Given the description of an element on the screen output the (x, y) to click on. 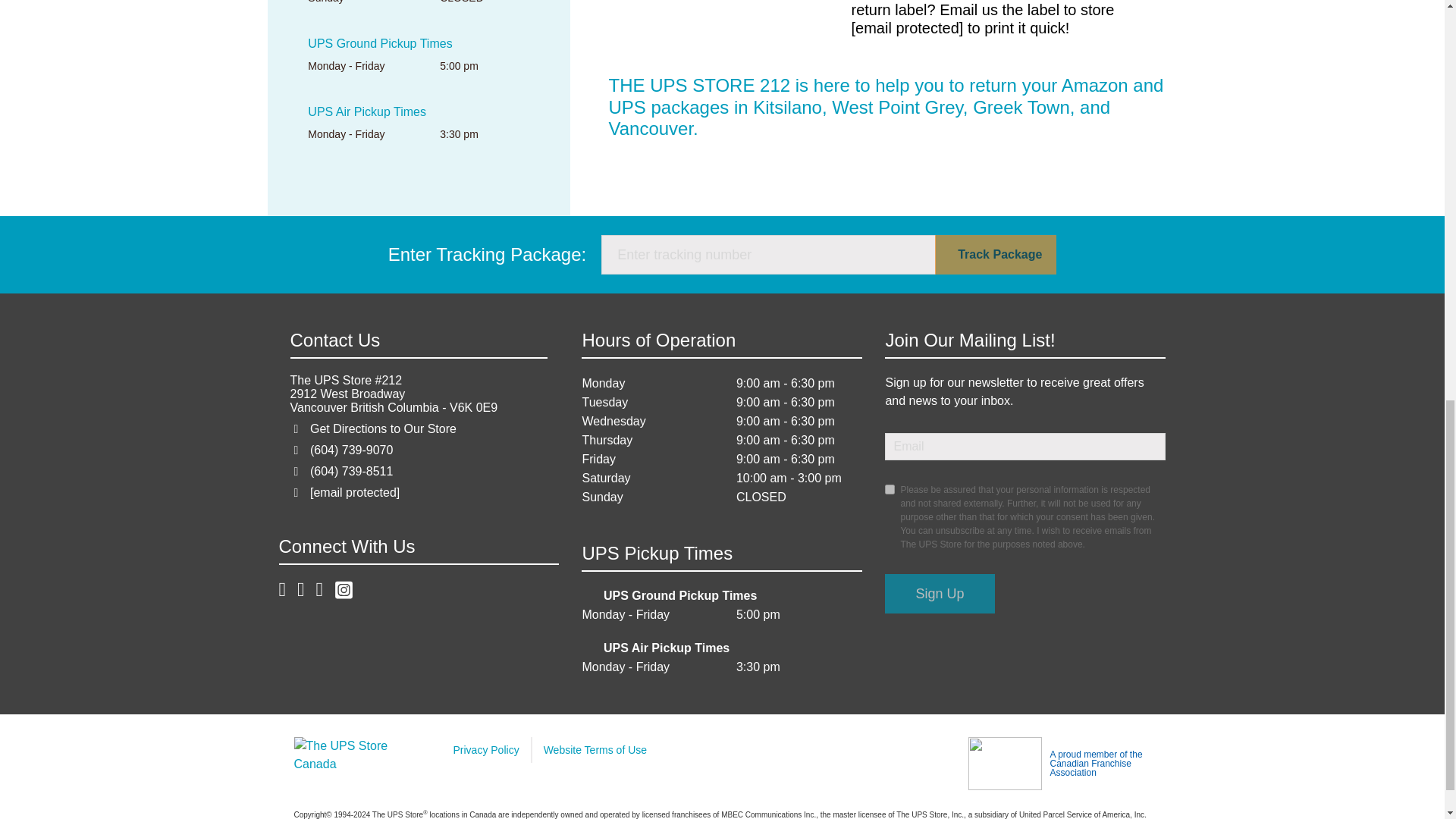
Get Directions to Our Store (383, 428)
Track Package (995, 254)
Sign Up (939, 593)
